Given the description of an element on the screen output the (x, y) to click on. 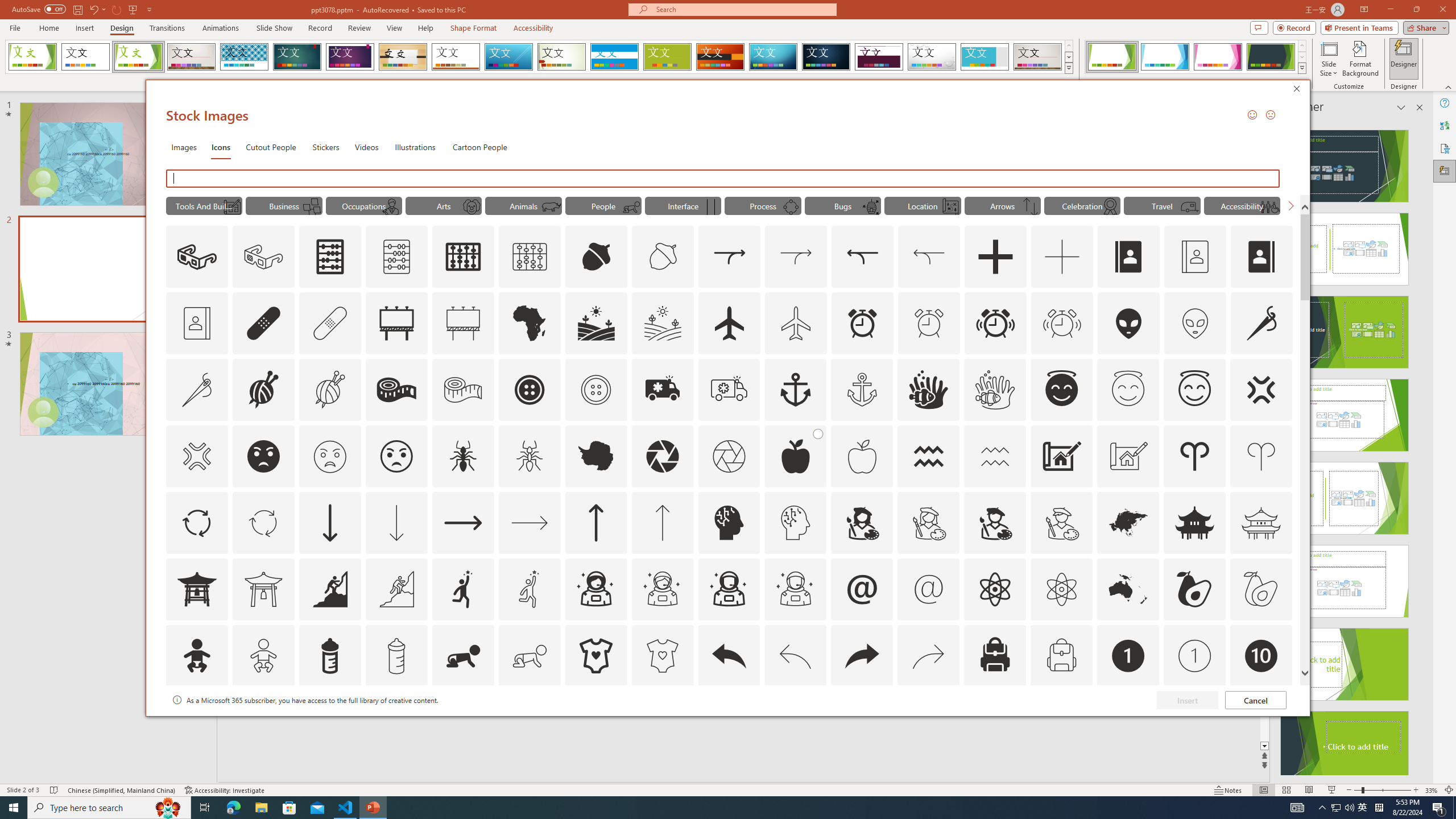
AutomationID: Icons_Badge3 (395, 721)
Facet Variant 1 (1112, 56)
Wisp (561, 56)
AutomationID: Icons_AlterationsTailoring2 (395, 389)
Next Search Suggestion (1290, 205)
